Given the description of an element on the screen output the (x, y) to click on. 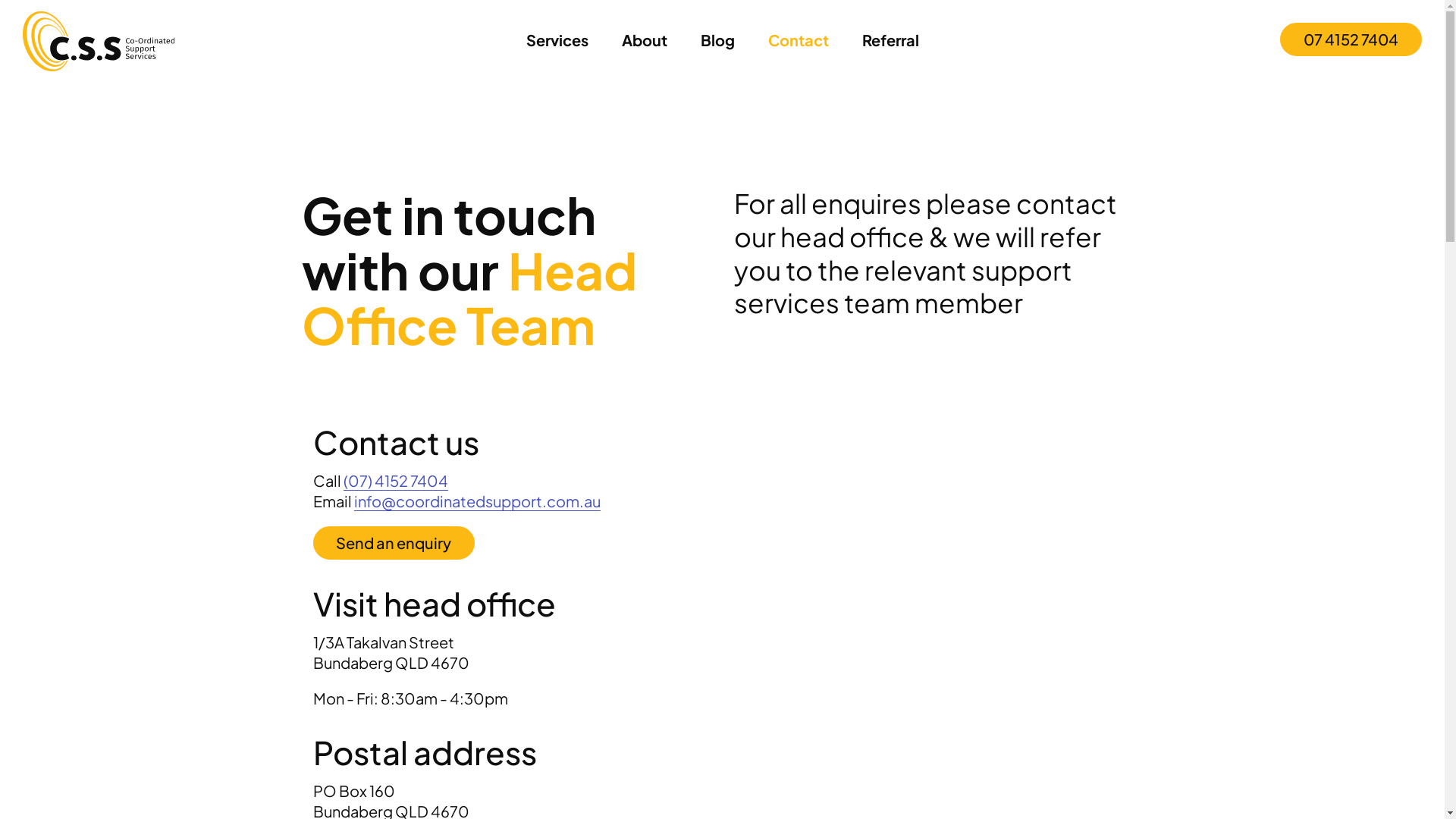
(07) 4152 7404 Element type: text (394, 480)
info@coordinatedsupport.com.au Element type: text (476, 501)
Services Element type: text (557, 40)
About Element type: text (644, 40)
Blog Element type: text (717, 40)
Co-Ordinated Support Services Element type: text (98, 41)
Referral Element type: text (889, 40)
07 4152 7404 Element type: text (1350, 39)
Contact Element type: text (797, 40)
Send an enquiry Element type: text (393, 542)
